Given the description of an element on the screen output the (x, y) to click on. 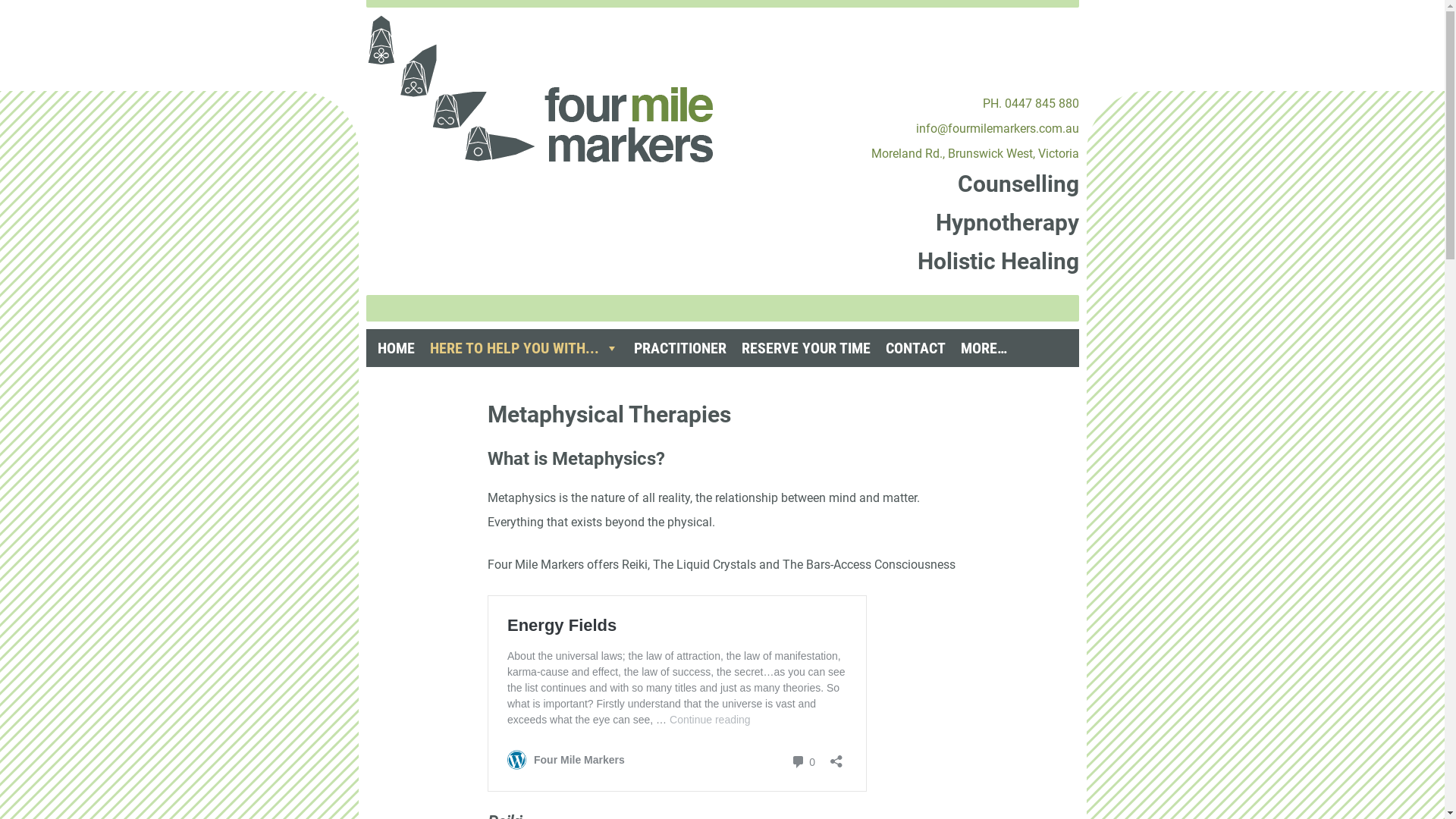
HOME Element type: text (396, 347)
PRACTITIONER Element type: text (680, 347)
CONTACT Element type: text (915, 347)
HERE TO HELP YOU WITH... Element type: text (523, 347)
info@fourmilemarkers.com.au Element type: text (997, 128)
RESERVE YOUR TIME Element type: text (806, 347)
